Given the description of an element on the screen output the (x, y) to click on. 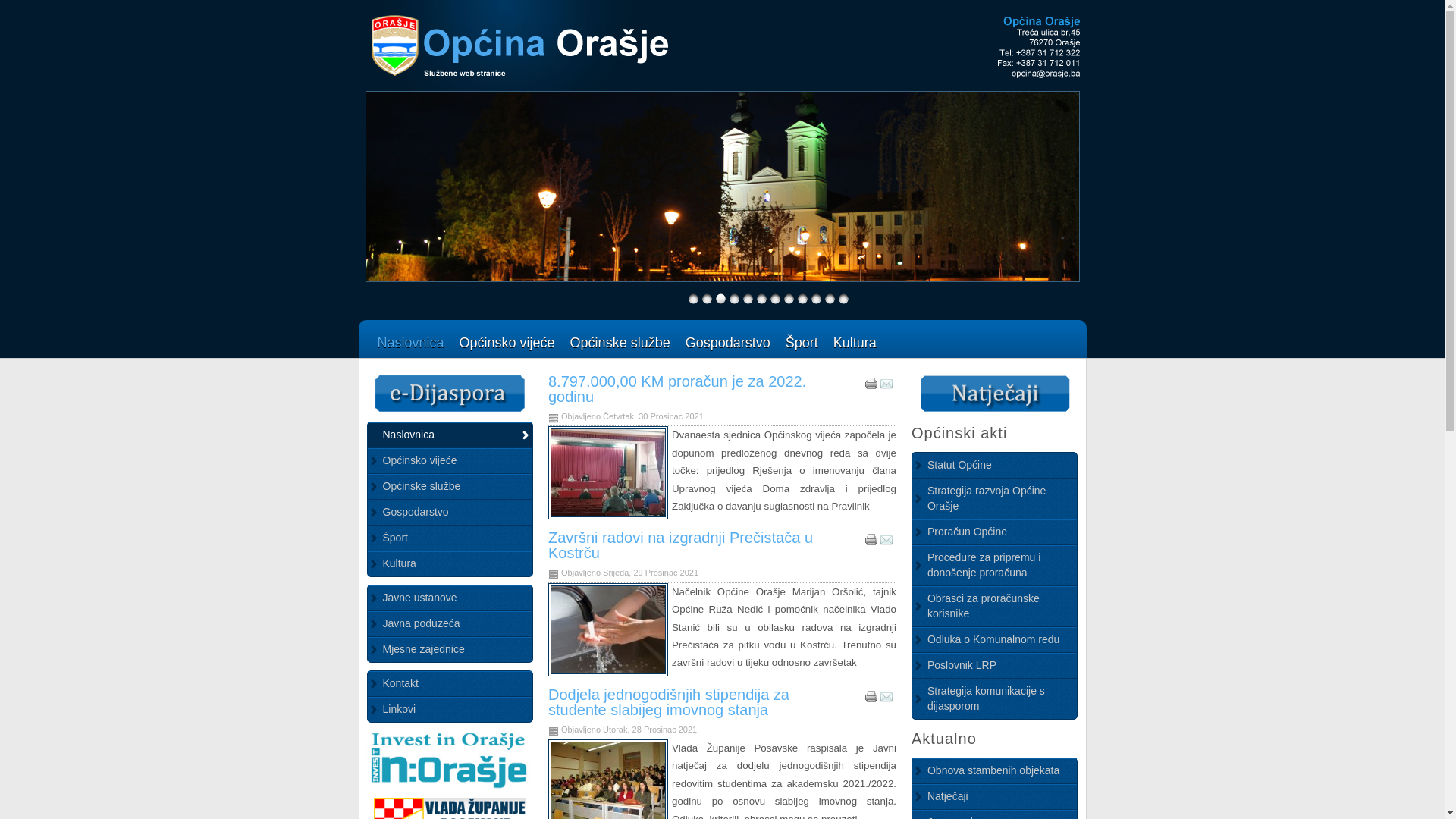
Ispis Element type: hover (871, 699)
Strategija komunikacije s dijasporom Element type: text (994, 698)
Odluka o Komunalnom redu Element type: text (994, 639)
Kultura Element type: text (854, 342)
Ispis Element type: hover (871, 542)
Gospodarstvo Element type: text (727, 342)
Naslovnica Element type: text (449, 435)
Kontakt Element type: text (449, 683)
E-mail Element type: hover (886, 699)
Linkovi Element type: text (449, 709)
Javne ustanove Element type: text (449, 598)
Obnova stambenih objekata Element type: text (994, 771)
Naslovnica Element type: text (410, 342)
E-mail Element type: hover (886, 542)
Gospodarstvo Element type: text (449, 512)
Ispis Element type: hover (871, 386)
Kultura Element type: text (449, 564)
Mjesne zajednice Element type: text (449, 649)
E-mail Element type: hover (886, 386)
Poslovnik LRP Element type: text (994, 665)
